Given the description of an element on the screen output the (x, y) to click on. 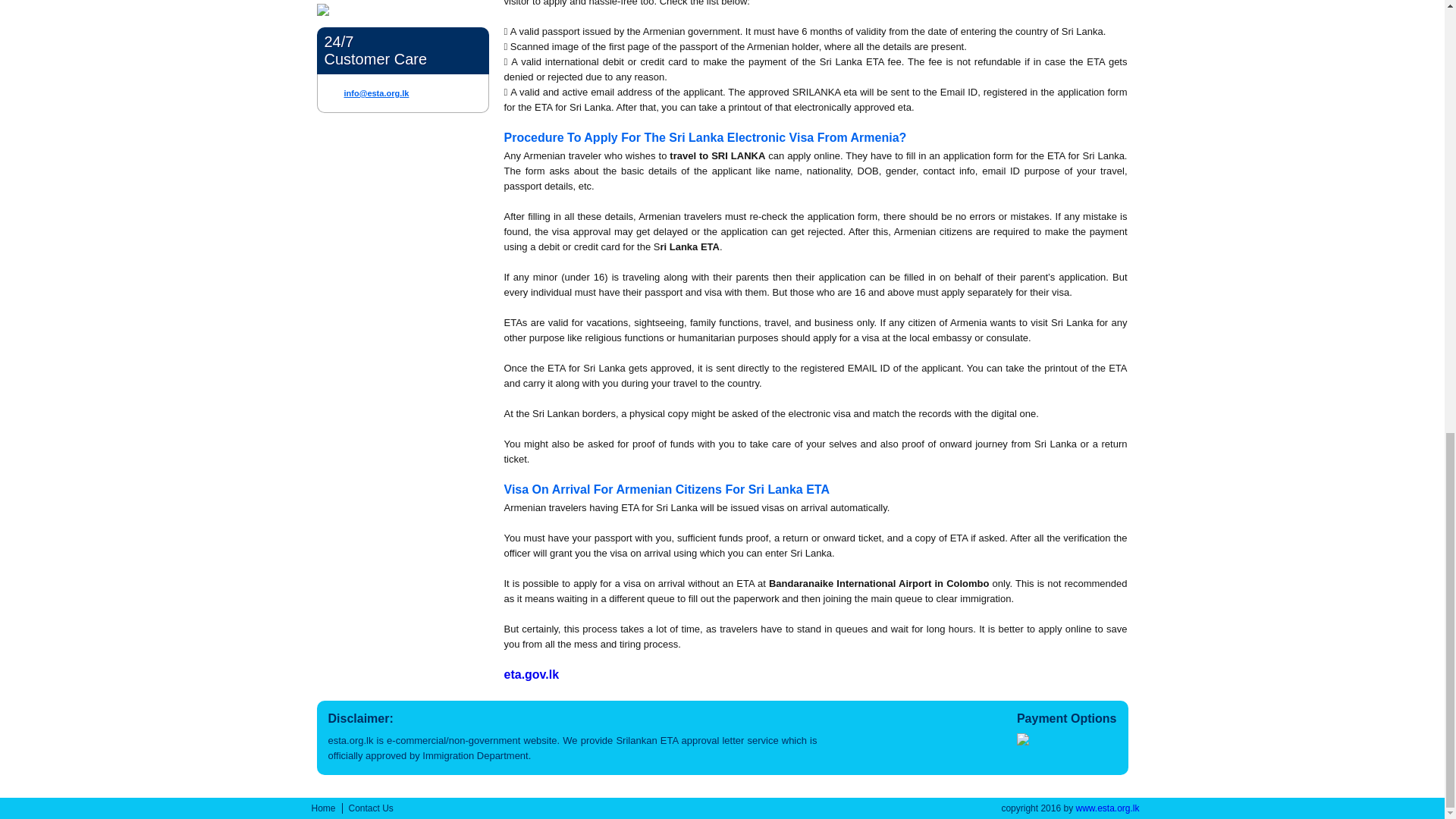
Home (322, 808)
www.esta.org.lk (1106, 808)
Contact Us (371, 808)
eta.gov.lk (531, 674)
